Given the description of an element on the screen output the (x, y) to click on. 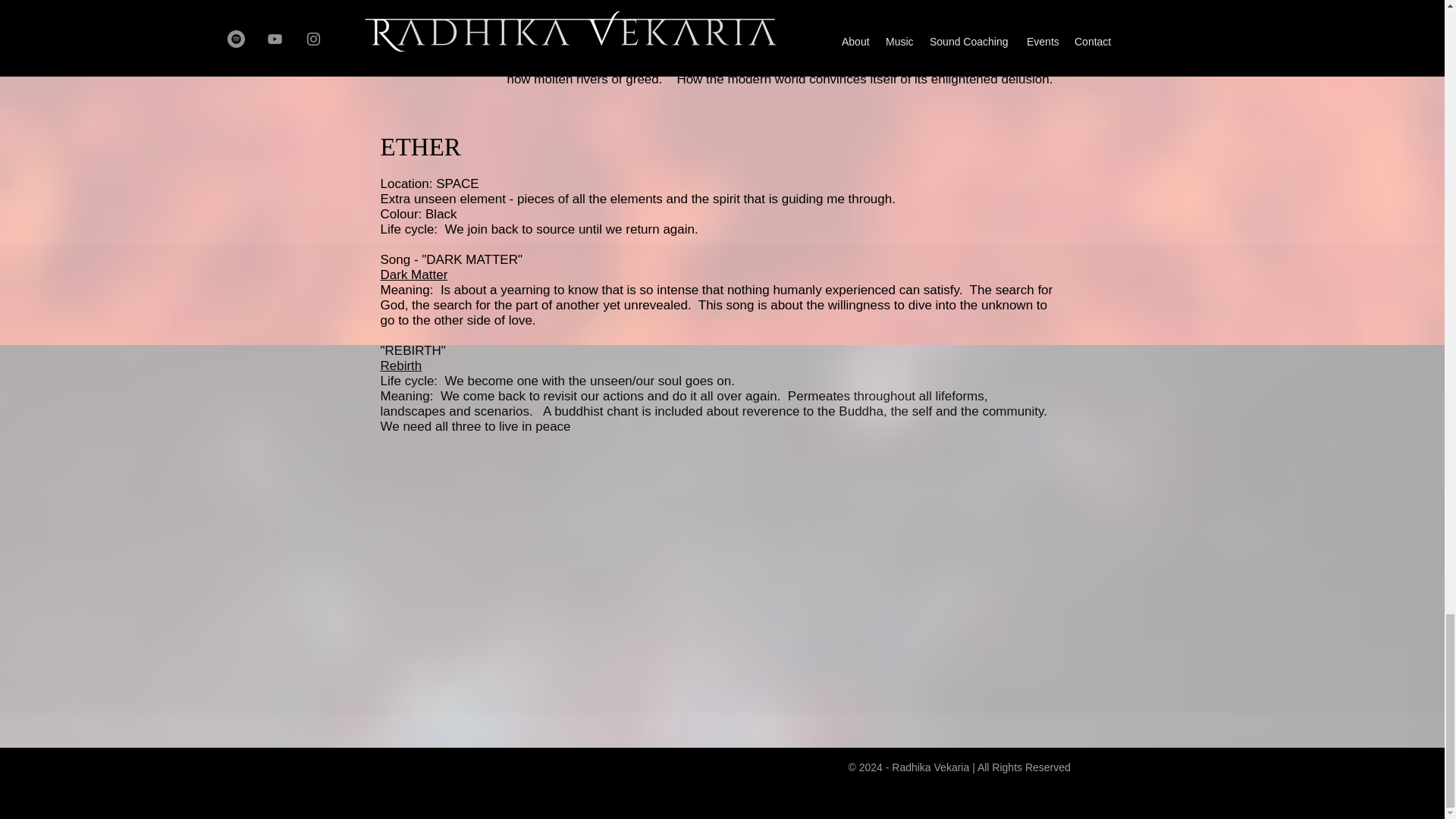
Rebirth (401, 365)
Rivers of Gold (1011, 48)
Dark Matter (414, 274)
